Given the description of an element on the screen output the (x, y) to click on. 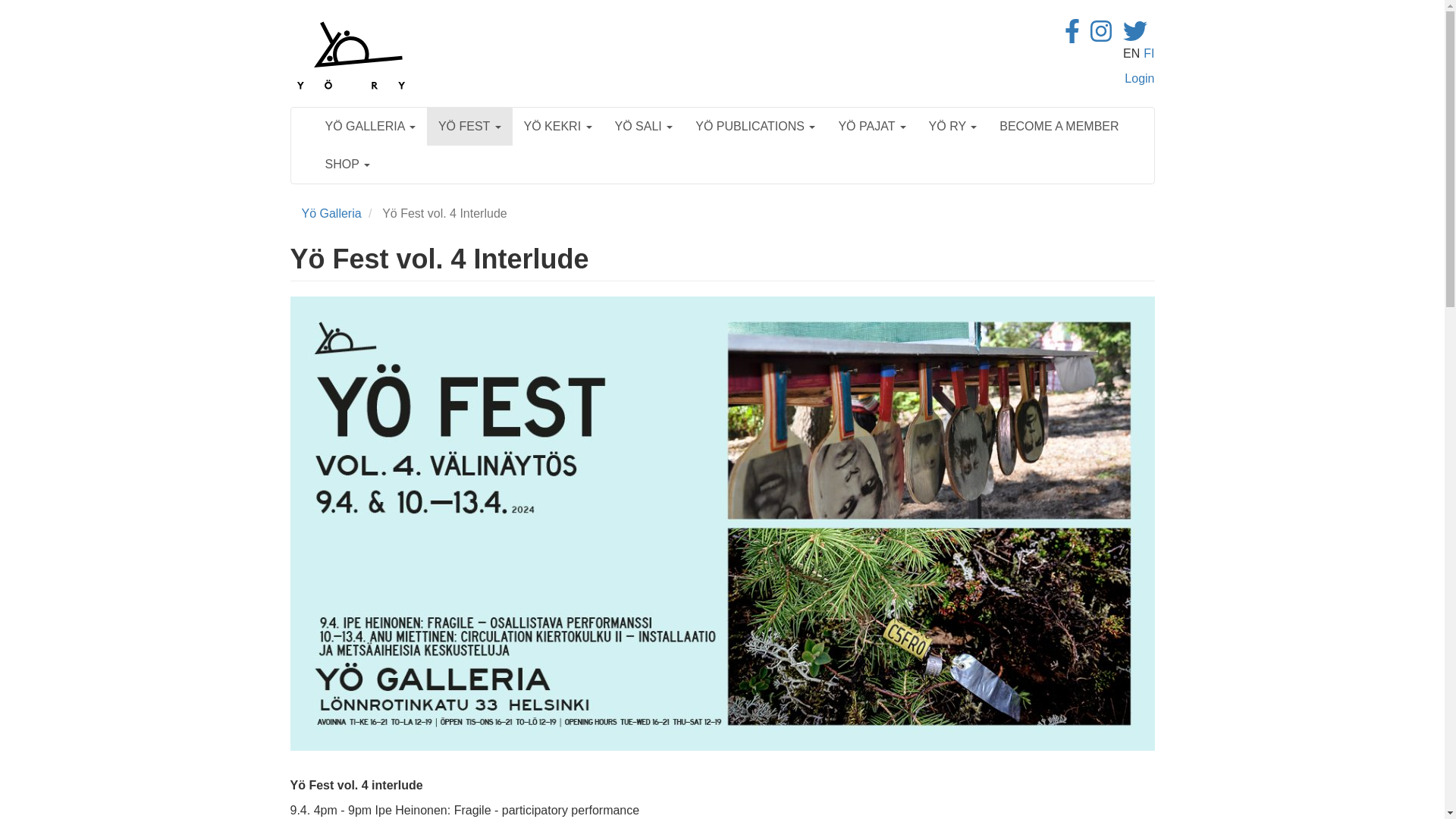
Frontpage (349, 55)
Login (1139, 78)
